Given the description of an element on the screen output the (x, y) to click on. 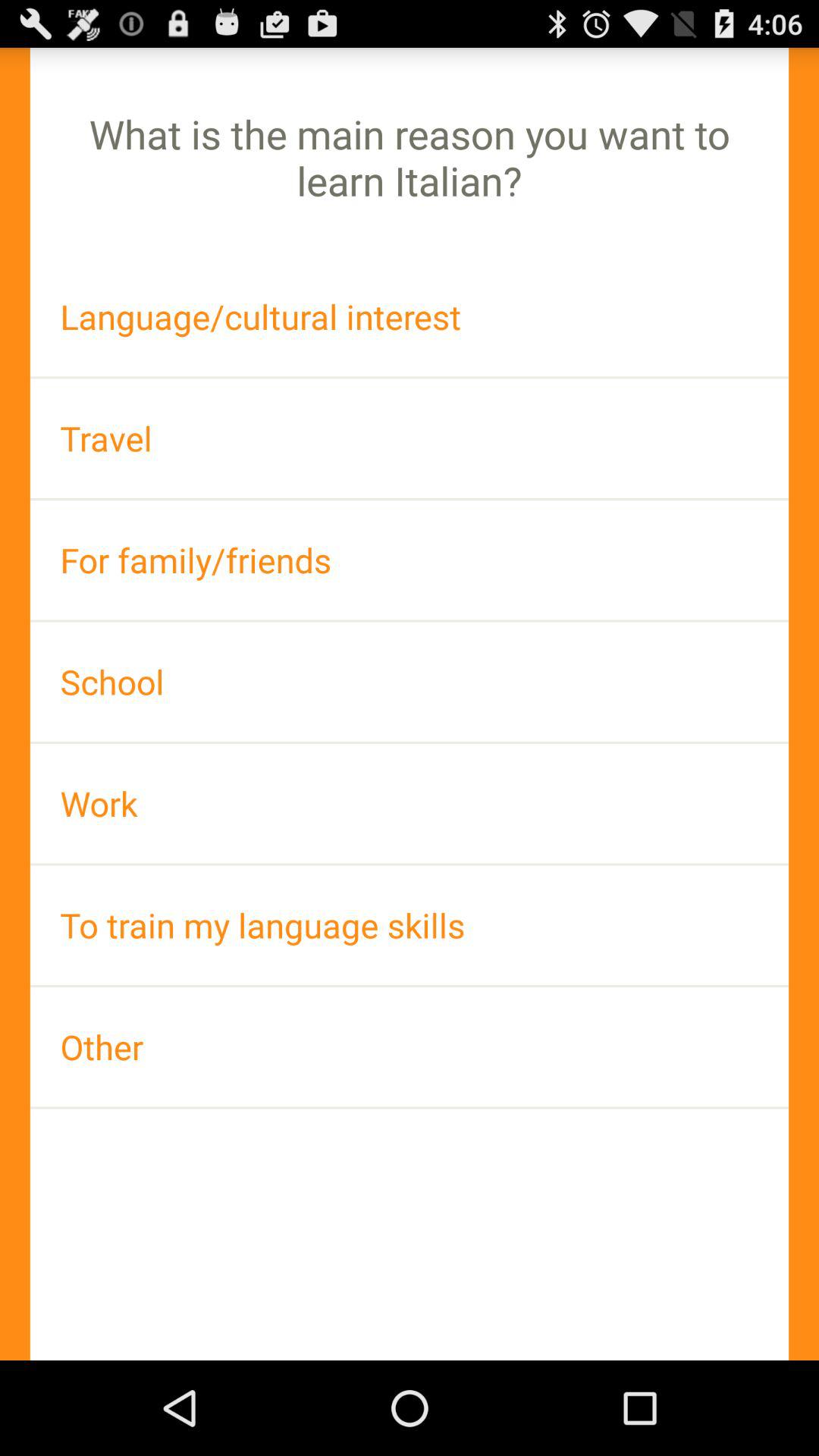
tap app at the bottom (409, 1046)
